Given the description of an element on the screen output the (x, y) to click on. 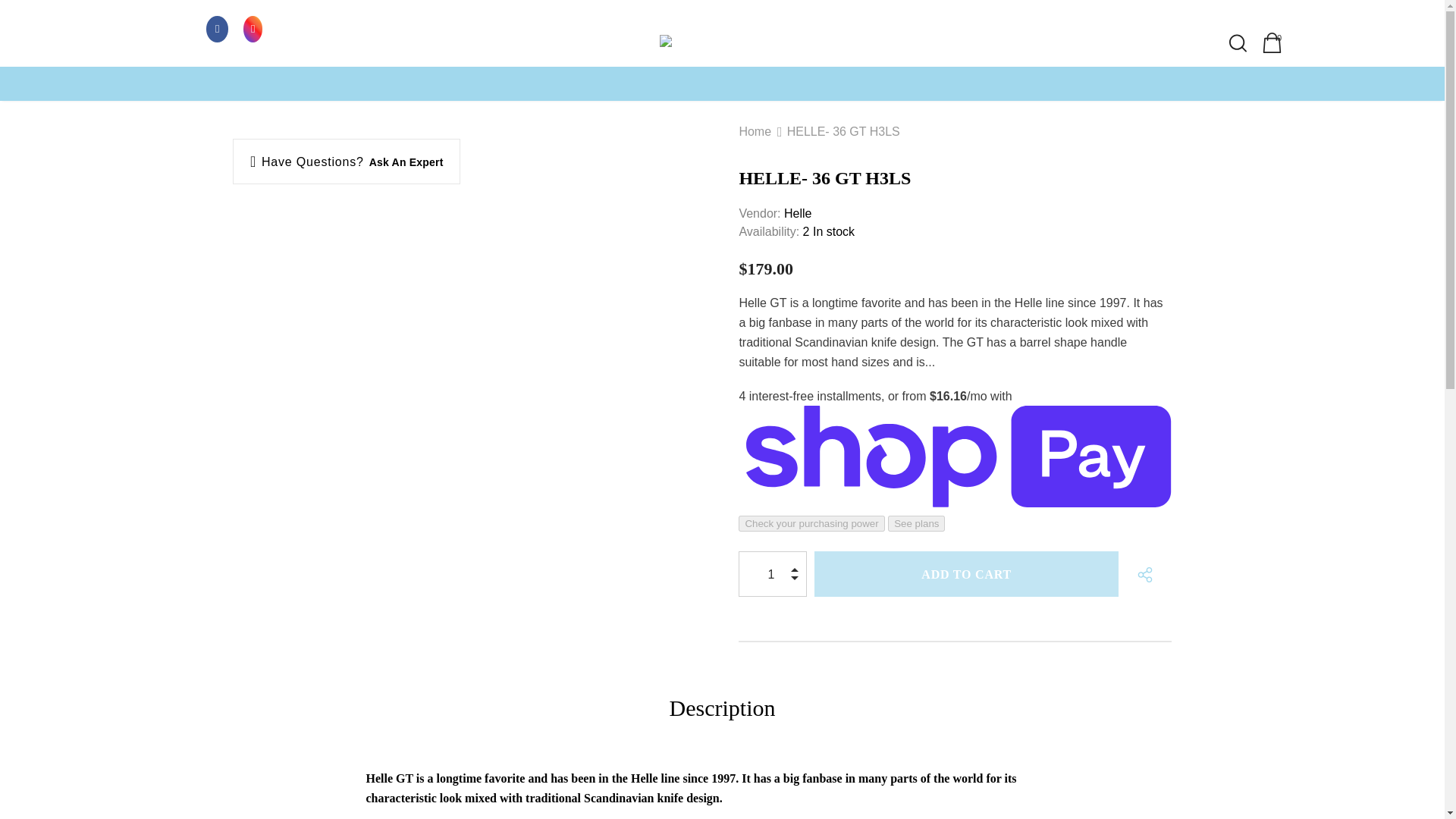
Add to cart (965, 574)
Search Icon (1237, 43)
1 (768, 573)
Cart (1272, 42)
Ask An Expert (406, 162)
Helle (797, 213)
Home (754, 131)
Instagram (253, 27)
0 (1272, 42)
Facebook (217, 27)
Logo (721, 43)
